Given the description of an element on the screen output the (x, y) to click on. 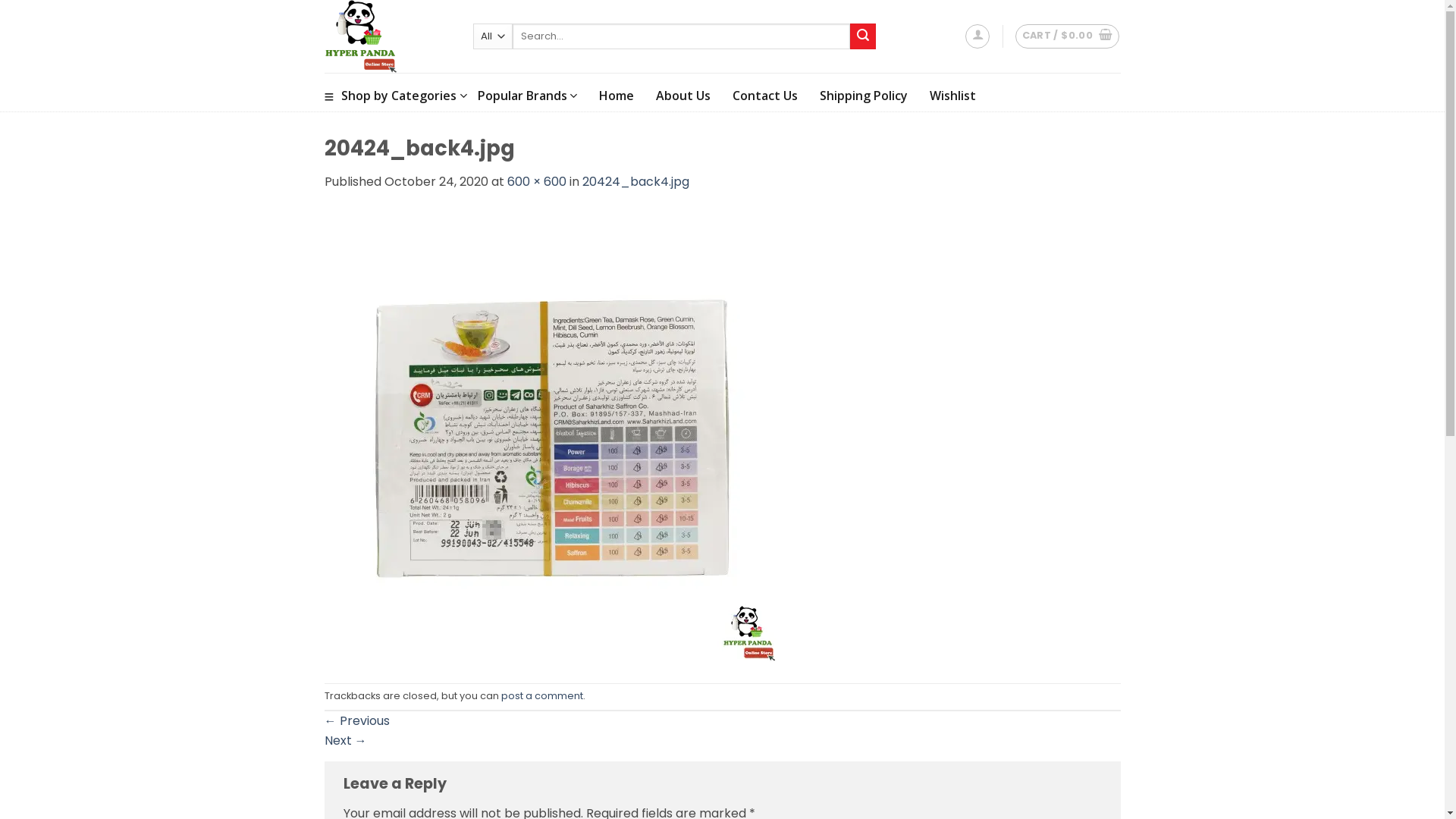
Contact Us Element type: text (764, 95)
Home Element type: text (616, 95)
Search Element type: text (862, 36)
Popular Brands Element type: text (527, 95)
20424_back4.jpg Element type: text (635, 181)
Wishlist Element type: text (952, 95)
Shipping Policy Element type: text (863, 95)
About Us Element type: text (682, 95)
20424_back4.jpg Element type: hover (551, 436)
CART / $0.00 Element type: text (1067, 36)
post a comment Element type: text (541, 695)
